Given the description of an element on the screen output the (x, y) to click on. 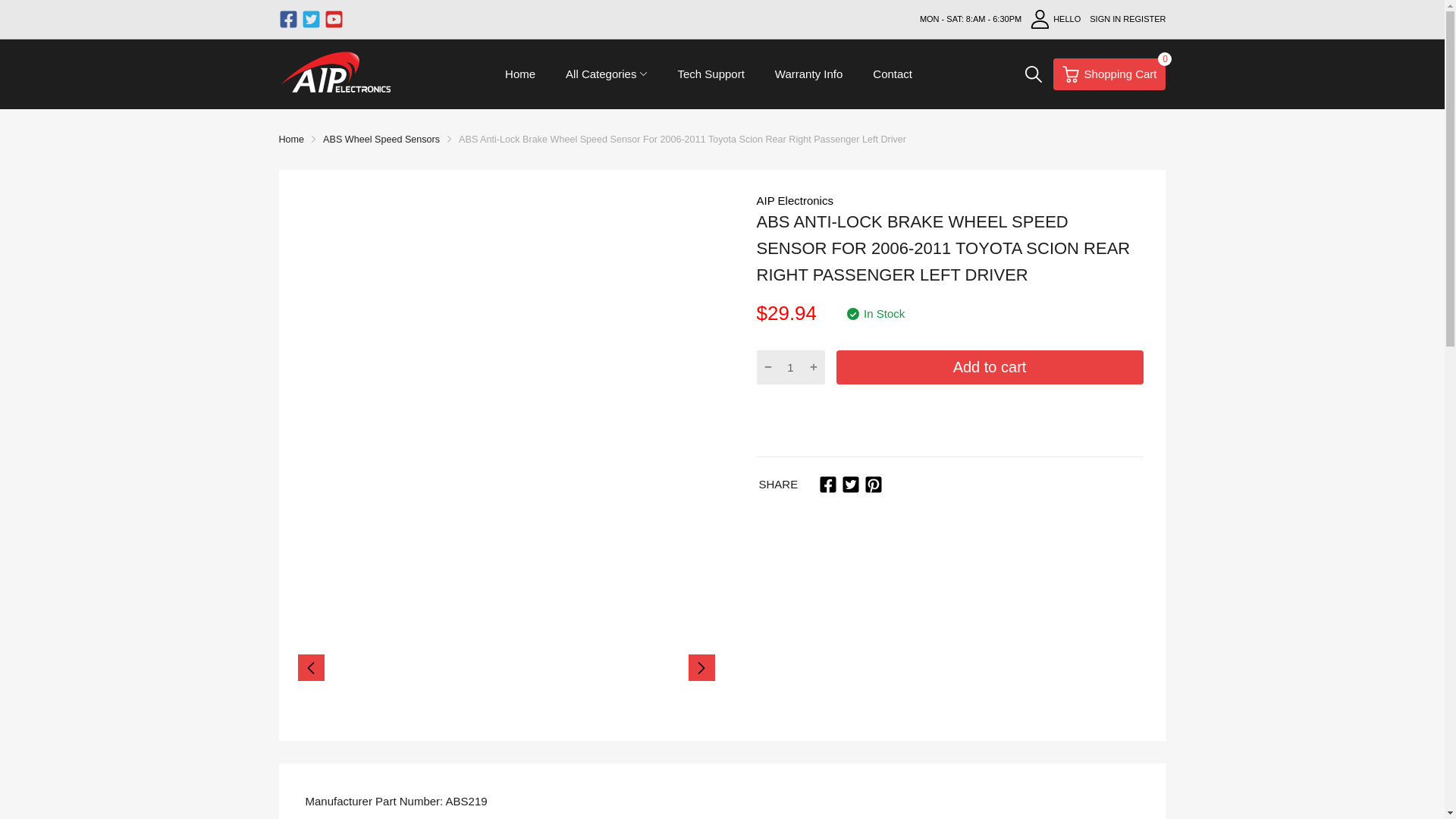
HELLO (1109, 74)
SIGN IN (1055, 19)
Twitter (1105, 18)
Pinterest (850, 484)
Youtube (873, 484)
Contact (333, 18)
Tech Support (892, 74)
ABS Wheel Speed Sensors (710, 74)
Warranty Info (381, 139)
Twitter (808, 74)
Home (310, 18)
AIP Electronics (291, 139)
Facebook (794, 200)
